Given the description of an element on the screen output the (x, y) to click on. 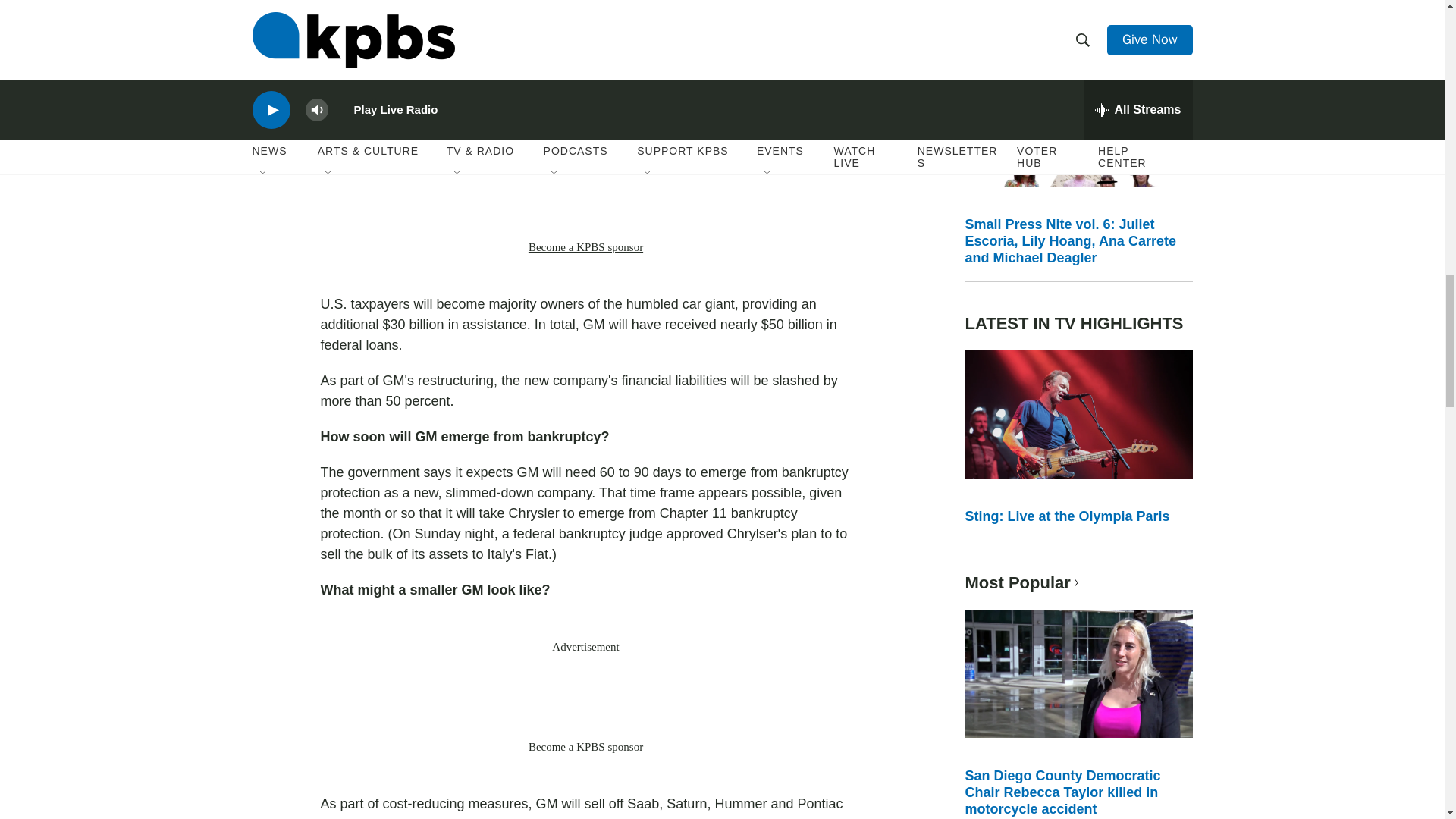
3rd party ad content (584, 196)
3rd party ad content (584, 696)
